Given the description of an element on the screen output the (x, y) to click on. 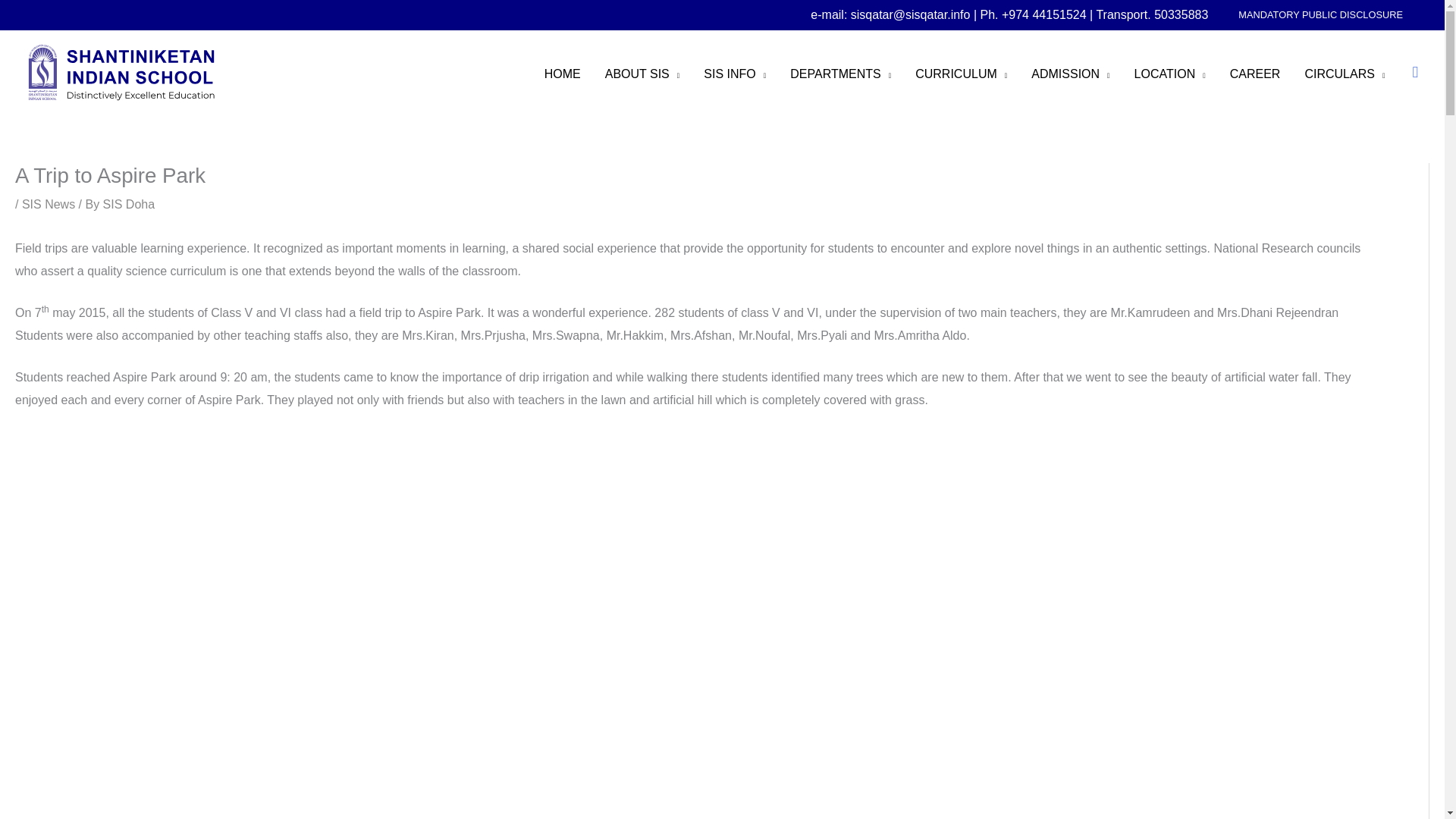
CURRICULUM (960, 74)
View all posts by SIS Doha (128, 204)
1997 (1169, 74)
HOME (562, 74)
SIS INFO (734, 74)
MANDATORY PUBLIC DISCLOSURE (1320, 15)
DEPARTMENTS (839, 74)
ABOUT SIS (642, 74)
